Given the description of an element on the screen output the (x, y) to click on. 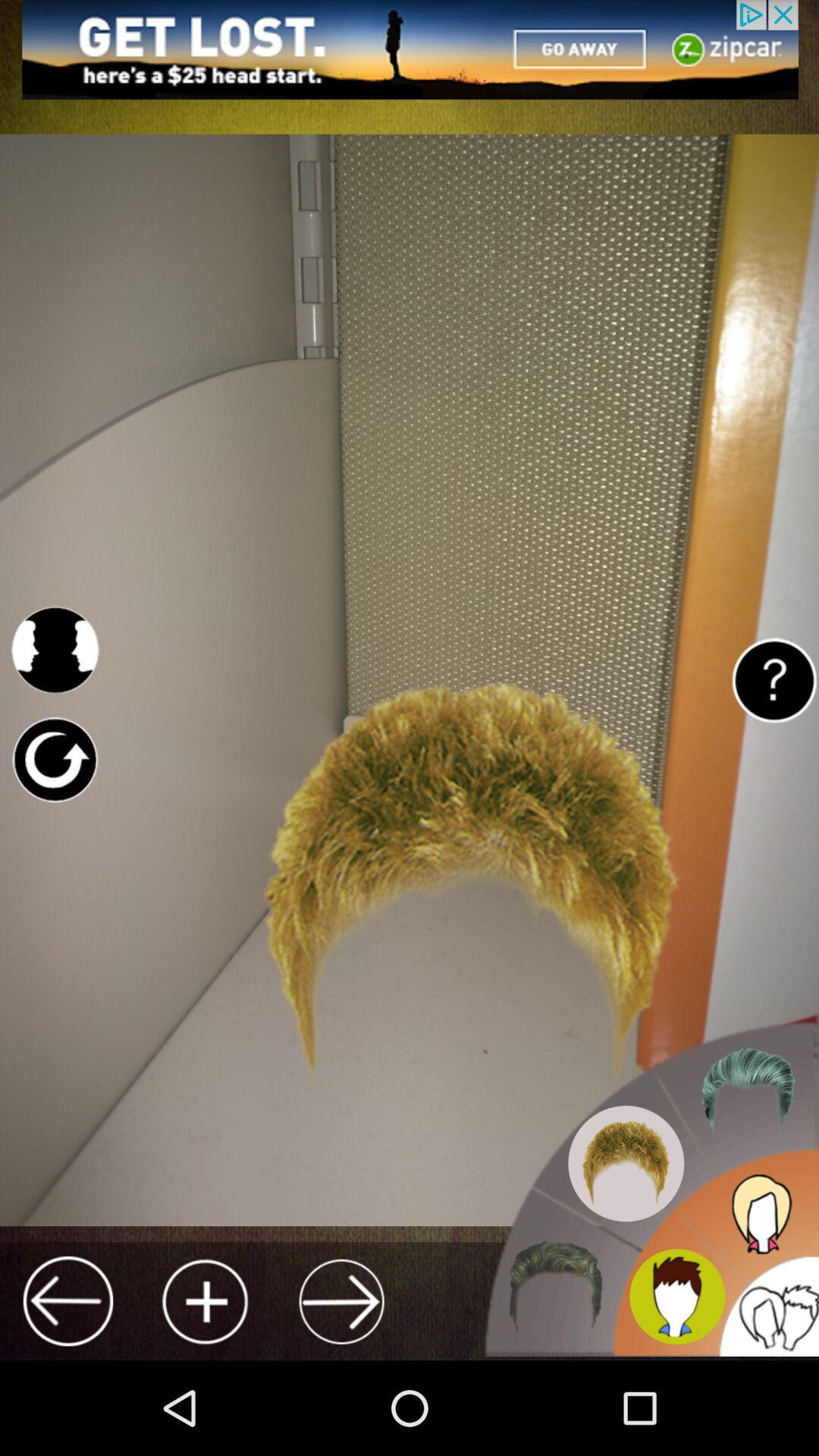
add image (204, 1301)
